Given the description of an element on the screen output the (x, y) to click on. 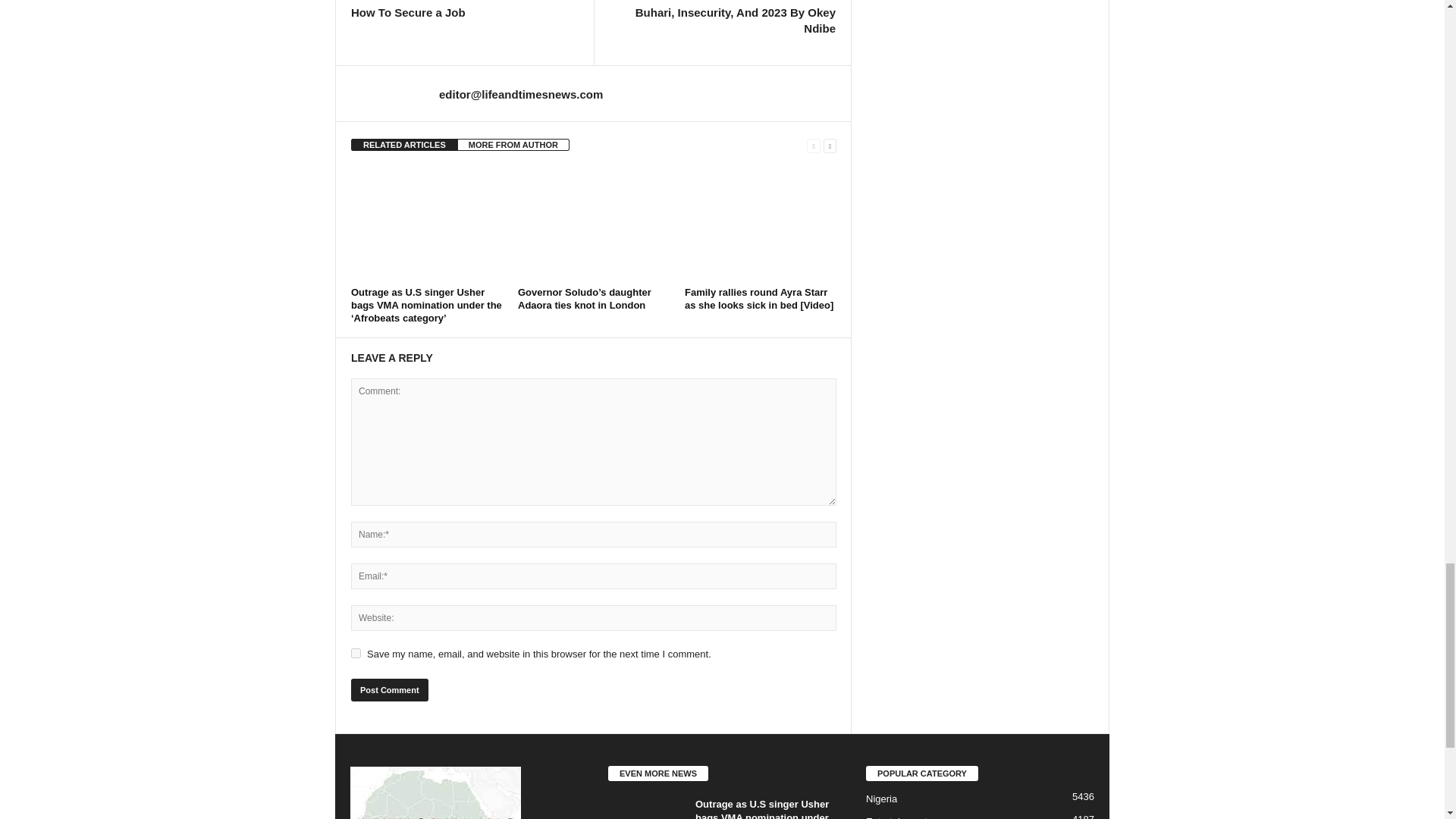
yes (355, 653)
Post Comment (389, 689)
